Given the description of an element on the screen output the (x, y) to click on. 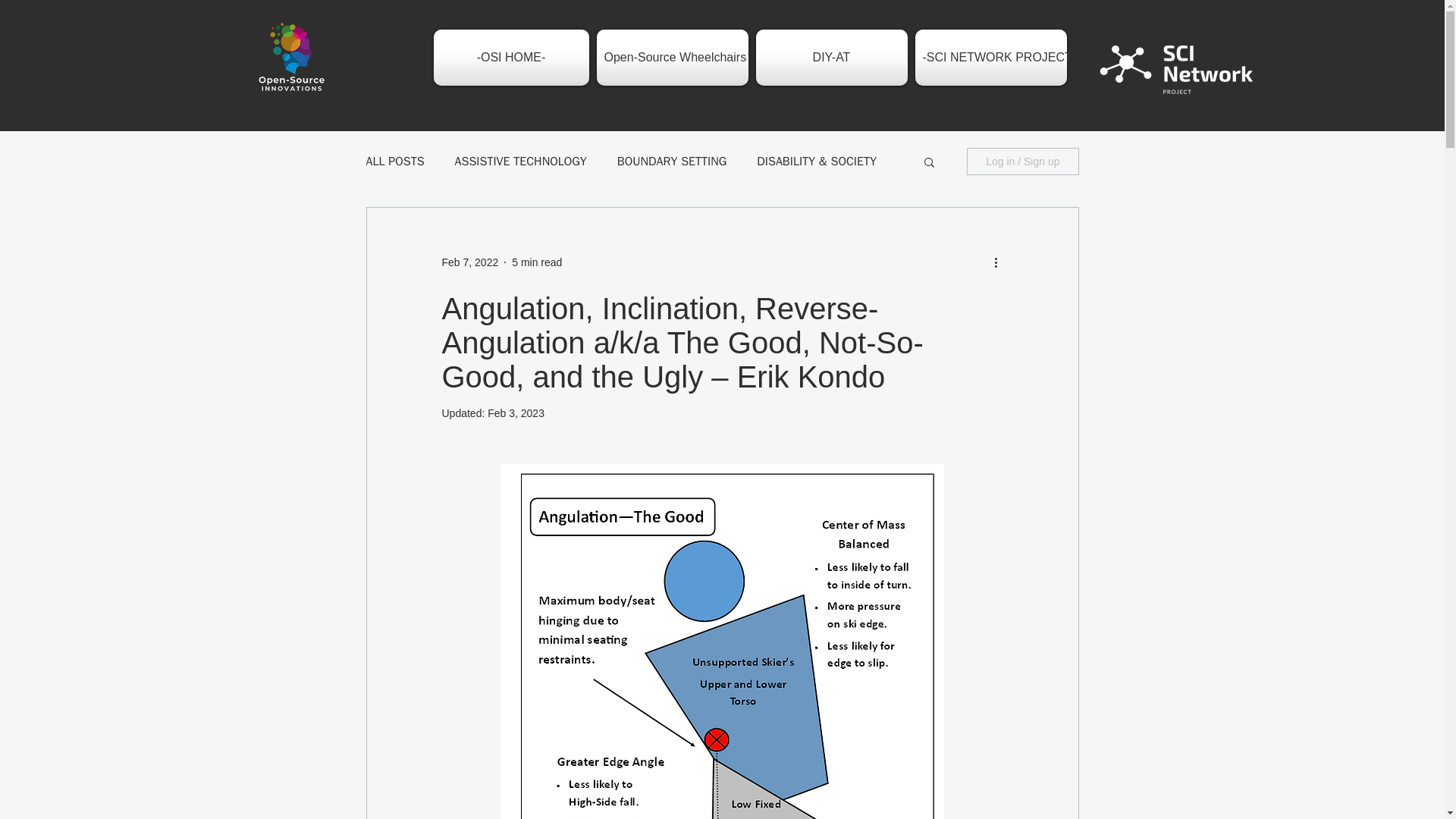
5 min read (537, 262)
DIY-AT (831, 57)
BOUNDARY SETTING (671, 160)
Feb 7, 2022 (469, 262)
ALL POSTS (394, 160)
-SCI NETWORK PROJECT- (990, 57)
ASSISTIVE TECHNOLOGY (520, 160)
-OSI HOME- (512, 57)
Feb 3, 2023 (515, 413)
